Given the description of an element on the screen output the (x, y) to click on. 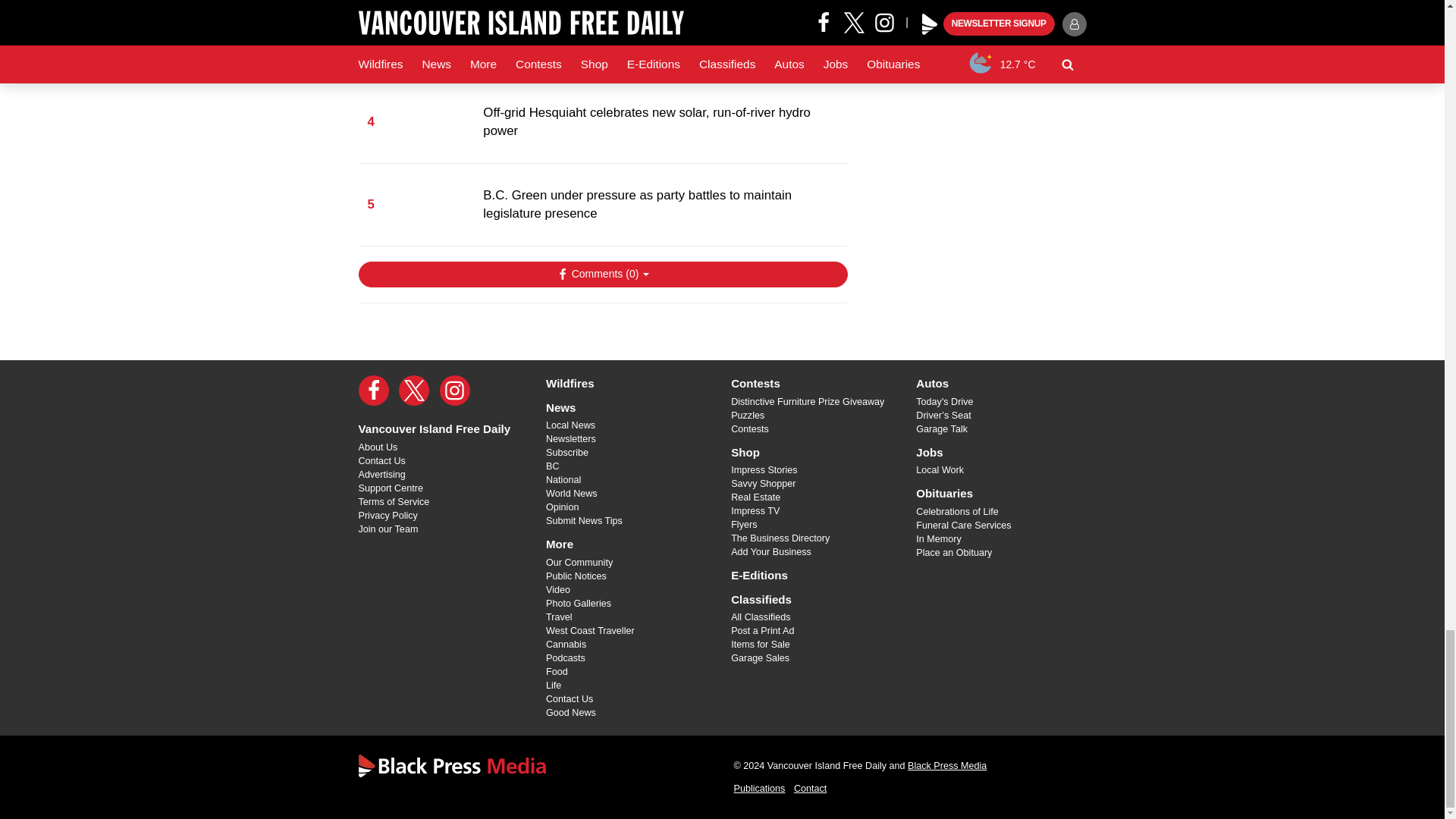
X (413, 390)
Show Comments (602, 274)
Instagram (454, 390)
Facebook (373, 390)
